Given the description of an element on the screen output the (x, y) to click on. 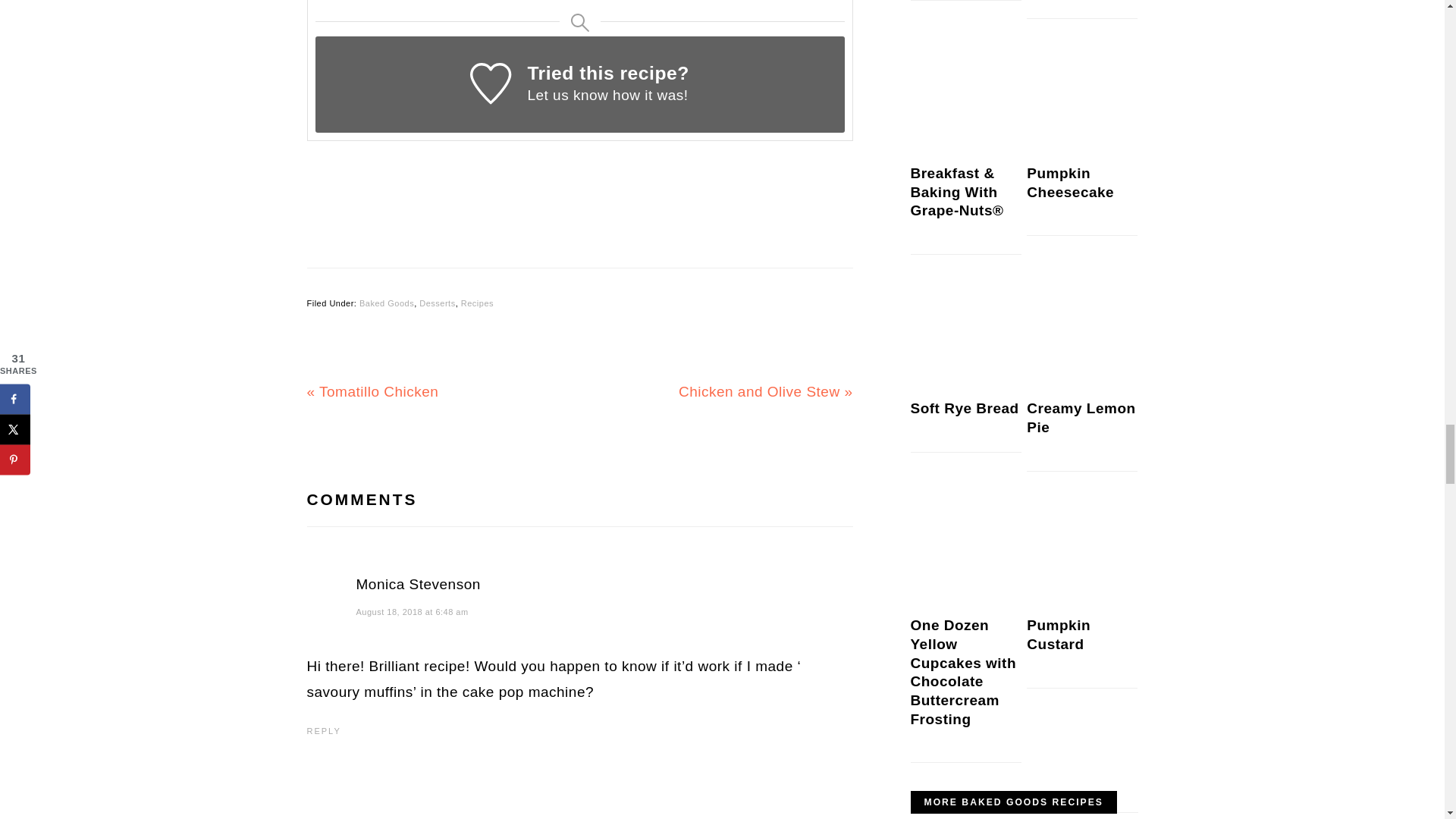
Desserts (436, 302)
Recipes (477, 302)
Let us know (567, 94)
REPLY (322, 730)
Baked Goods (386, 302)
August 18, 2018 at 6:48 am (412, 611)
